Given the description of an element on the screen output the (x, y) to click on. 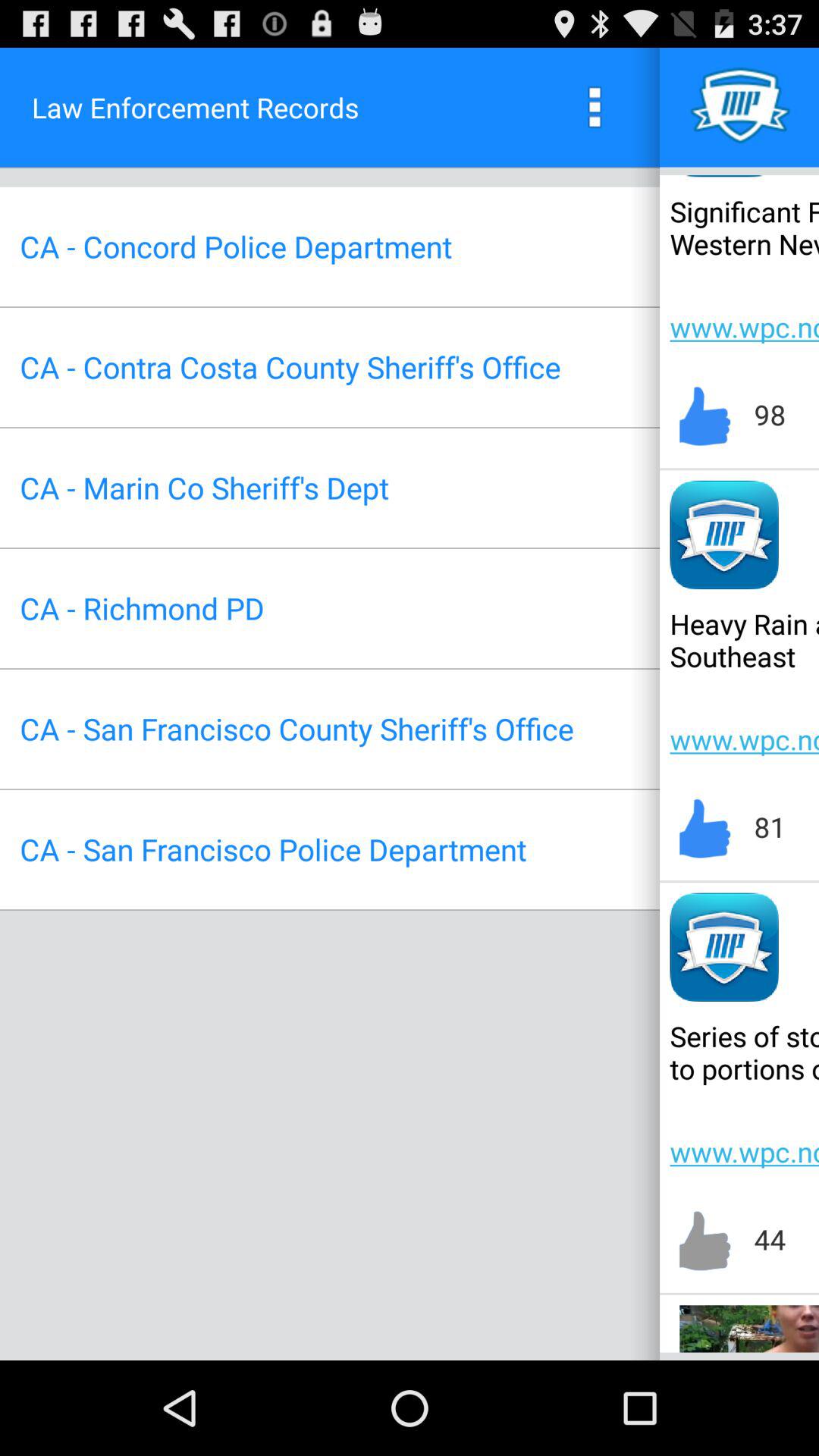
turn off ca contra costa (289, 366)
